Given the description of an element on the screen output the (x, y) to click on. 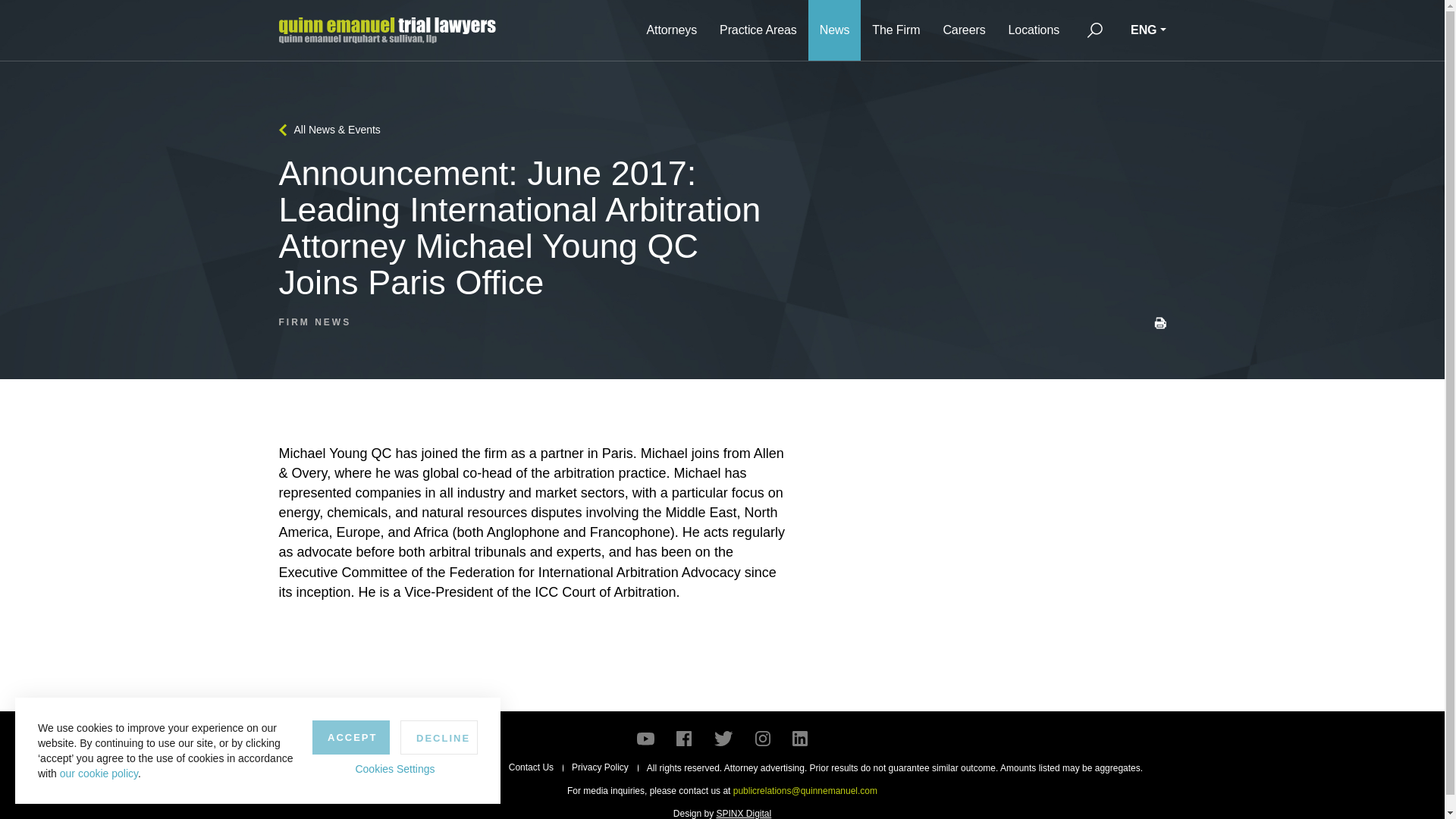
Practice Areas (757, 30)
Attorneys (670, 30)
Locations (1034, 30)
The Firm (895, 30)
Attorneys (670, 30)
Practice Areas (757, 30)
